Given the description of an element on the screen output the (x, y) to click on. 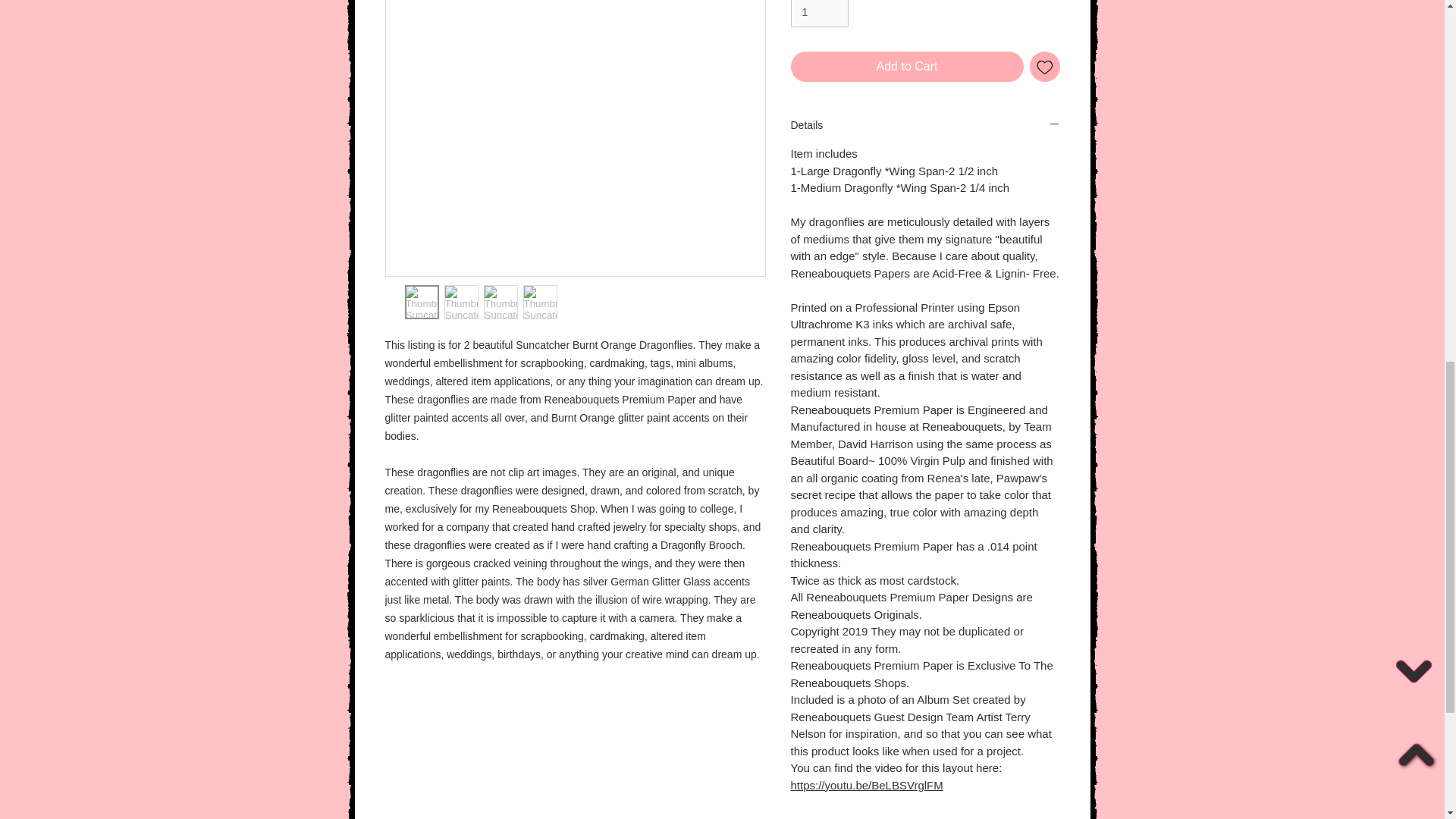
1 (818, 13)
Details (924, 124)
Add to Cart (906, 66)
